Given the description of an element on the screen output the (x, y) to click on. 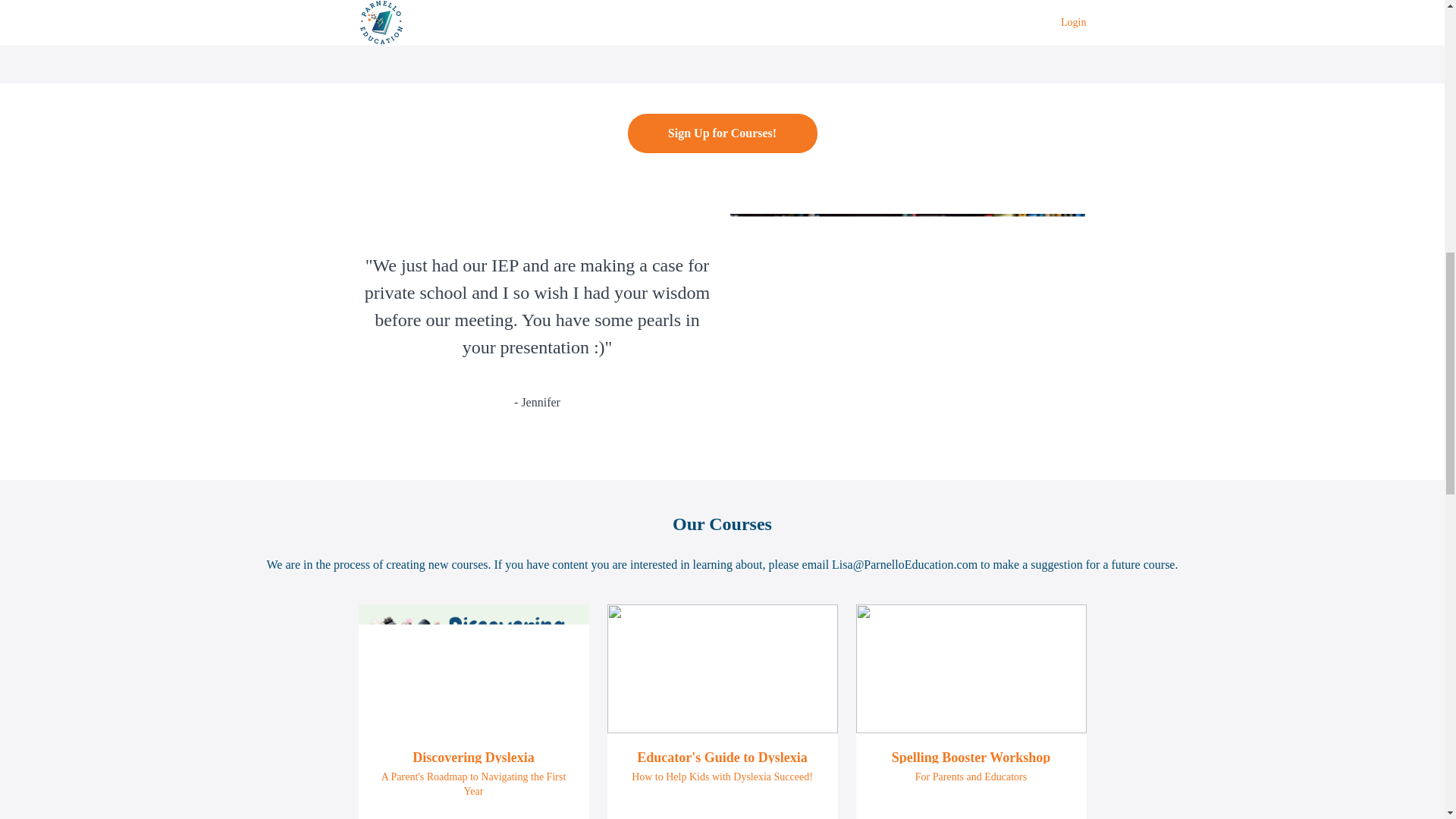
For Parents and Educators (970, 776)
Discovering Dyslexia (472, 757)
Educator's Guide to Dyslexia (721, 757)
How to Help Kids with Dyslexia Succeed! (721, 776)
A Parent's Roadmap to Navigating the First Year (472, 783)
Sign Up for Courses! (721, 134)
Sign Up for Courses! (721, 133)
Spelling Booster Workshop (970, 757)
